Given the description of an element on the screen output the (x, y) to click on. 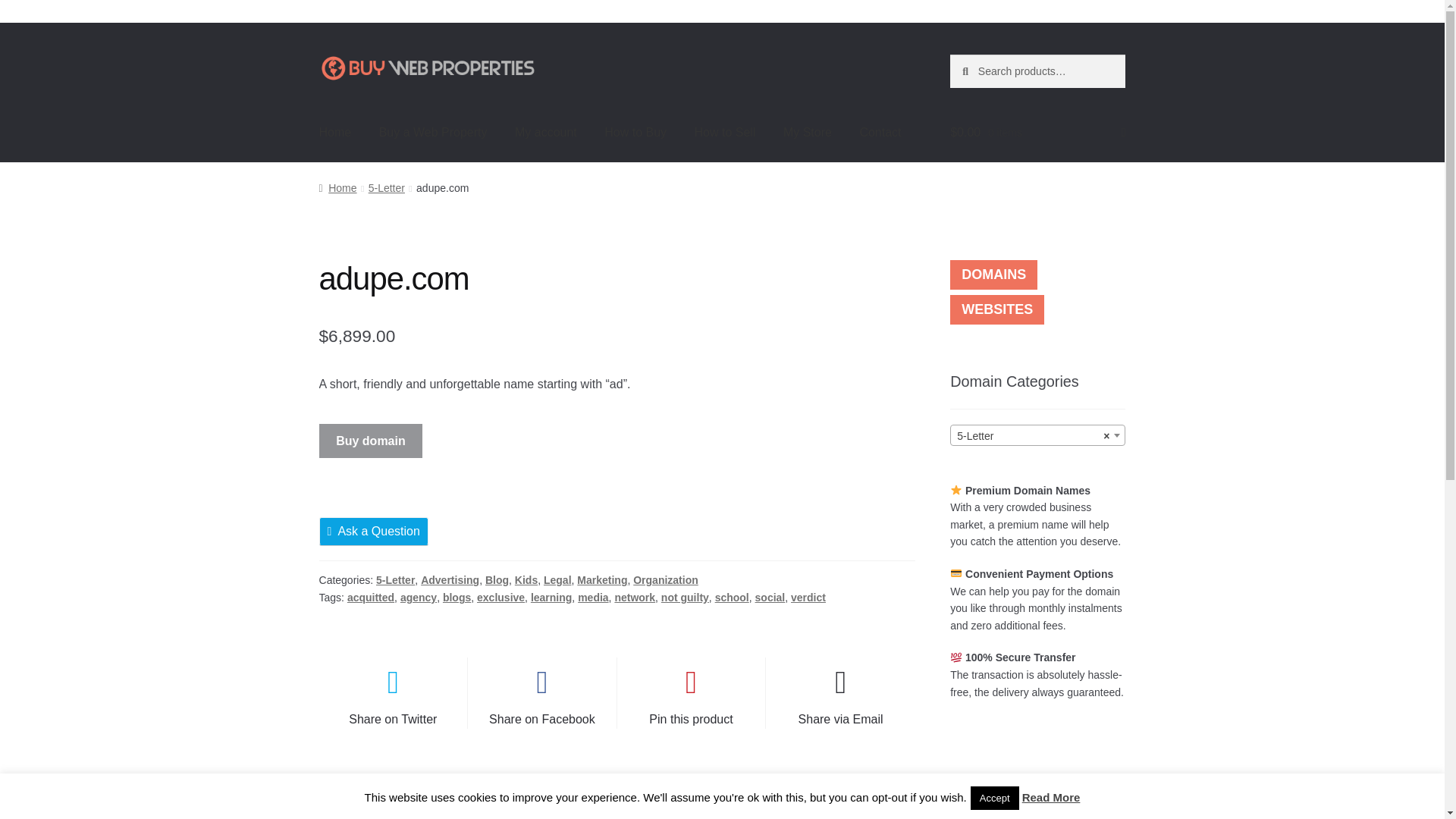
Kids (526, 580)
How to Sell (725, 132)
My account (545, 132)
Home (337, 187)
Blog (496, 580)
Contact (879, 132)
Home (335, 132)
5-Letter (386, 187)
View your shopping cart (1037, 132)
Buy domain (370, 441)
5-Letter (394, 580)
Advertising (449, 580)
5-Letter (1037, 435)
